Given the description of an element on the screen output the (x, y) to click on. 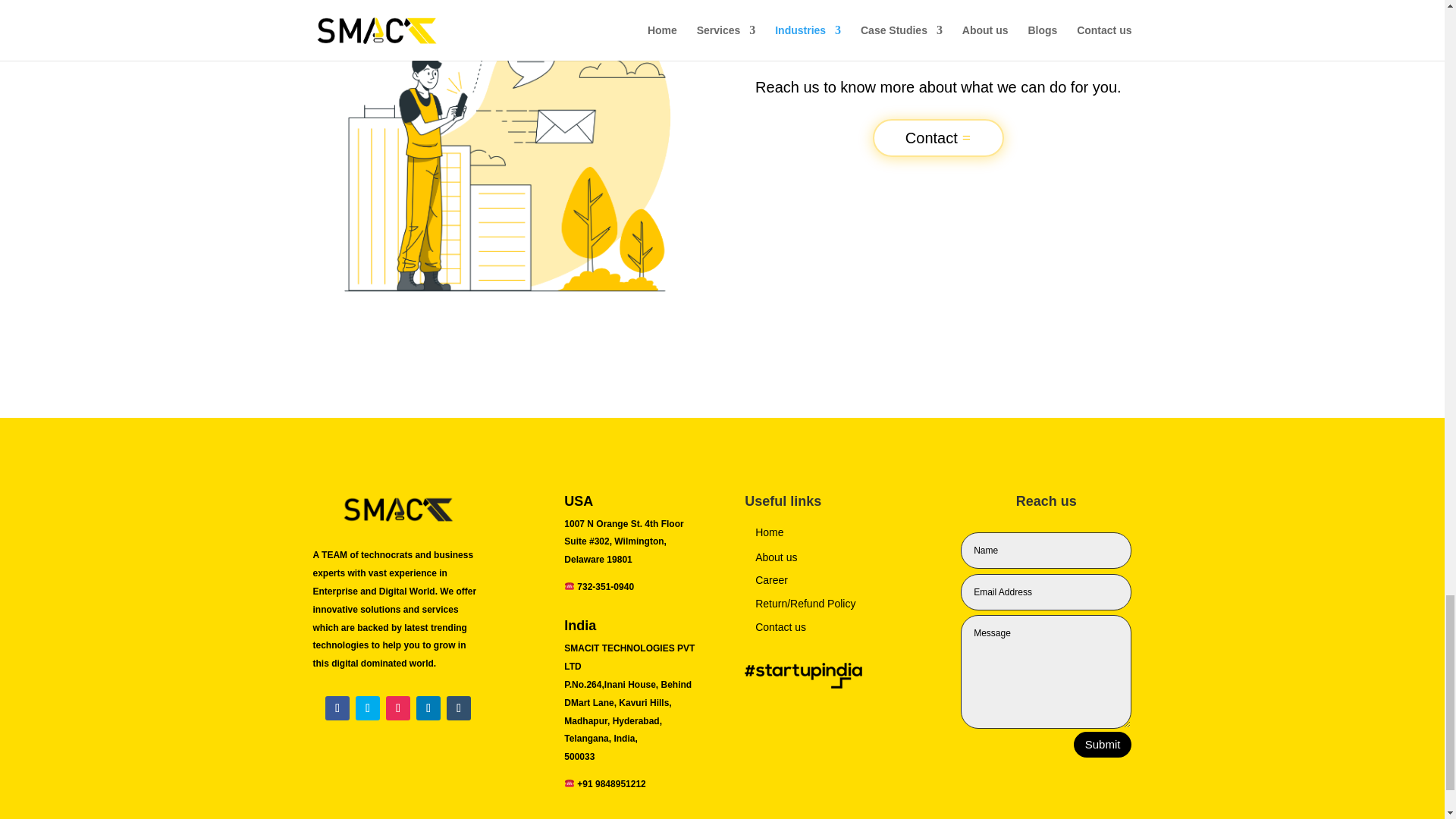
Follow on LinkedIn (428, 708)
Follow on Facebook (336, 708)
Follow on Instagram (397, 708)
Follow on Twitter (367, 708)
Follow on tumblr (458, 708)
